Given the description of an element on the screen output the (x, y) to click on. 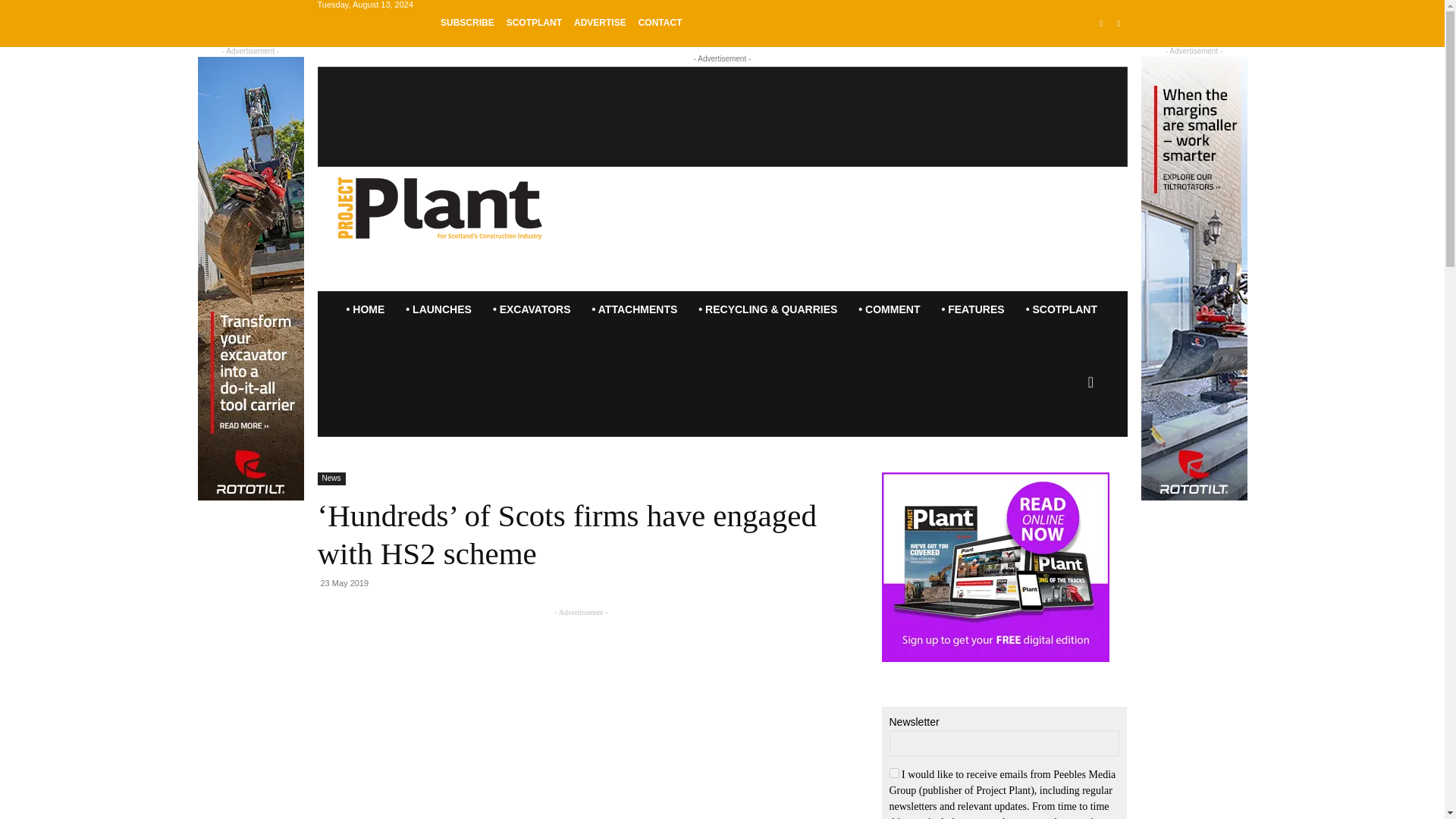
on (893, 773)
Facebook (1101, 23)
SUBSCRIBE (468, 22)
Project Plant (439, 206)
Twitter (1117, 23)
CONTACT (660, 22)
ADVERTISE (599, 22)
Project Plant (439, 206)
News (331, 478)
SCOTPLANT (534, 22)
